Given the description of an element on the screen output the (x, y) to click on. 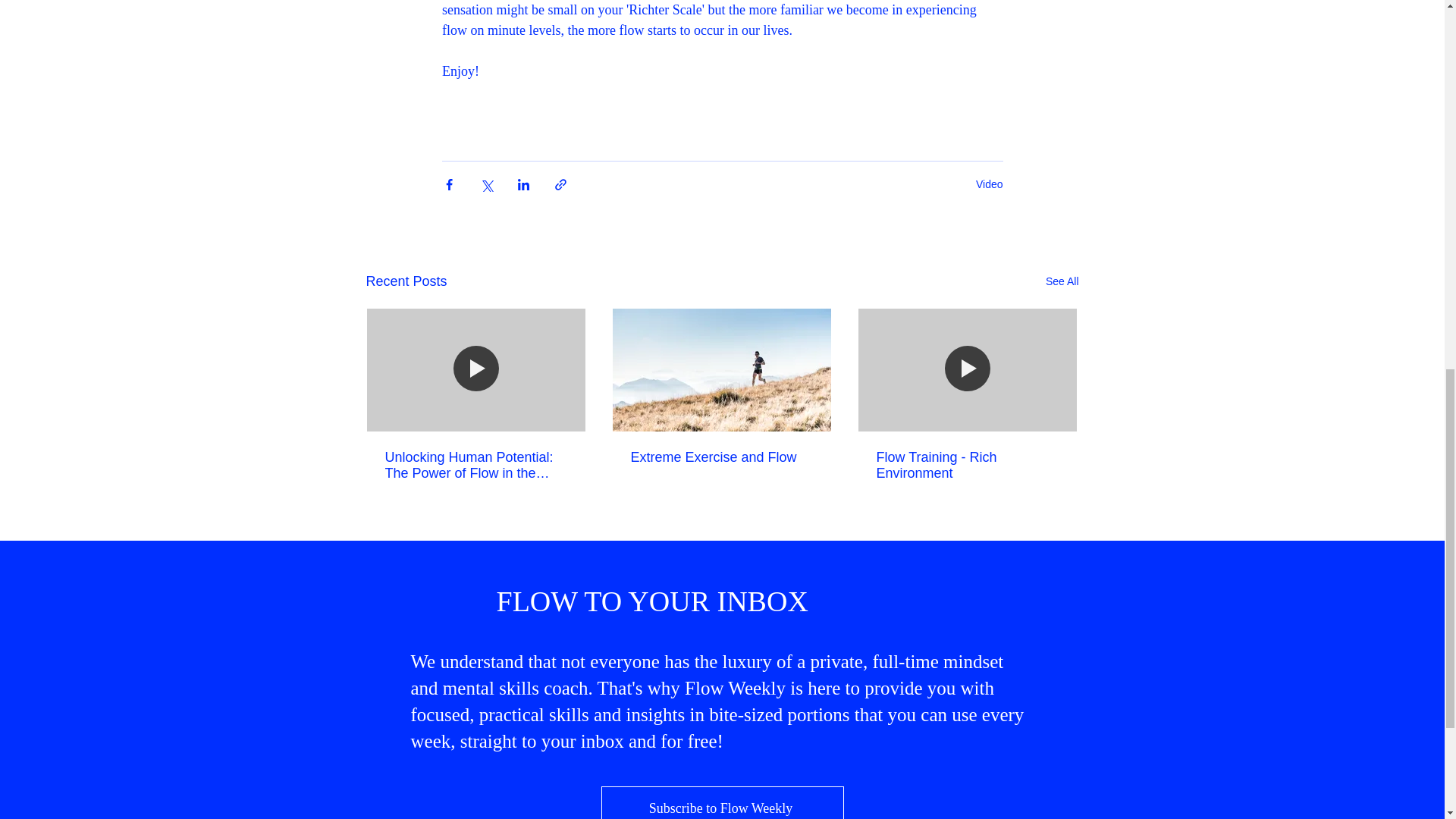
Subscribe to Flow Weekly (721, 802)
Extreme Exercise and Flow (721, 457)
Flow Training - Rich Environment (967, 465)
Video (989, 184)
See All (1061, 281)
